Given the description of an element on the screen output the (x, y) to click on. 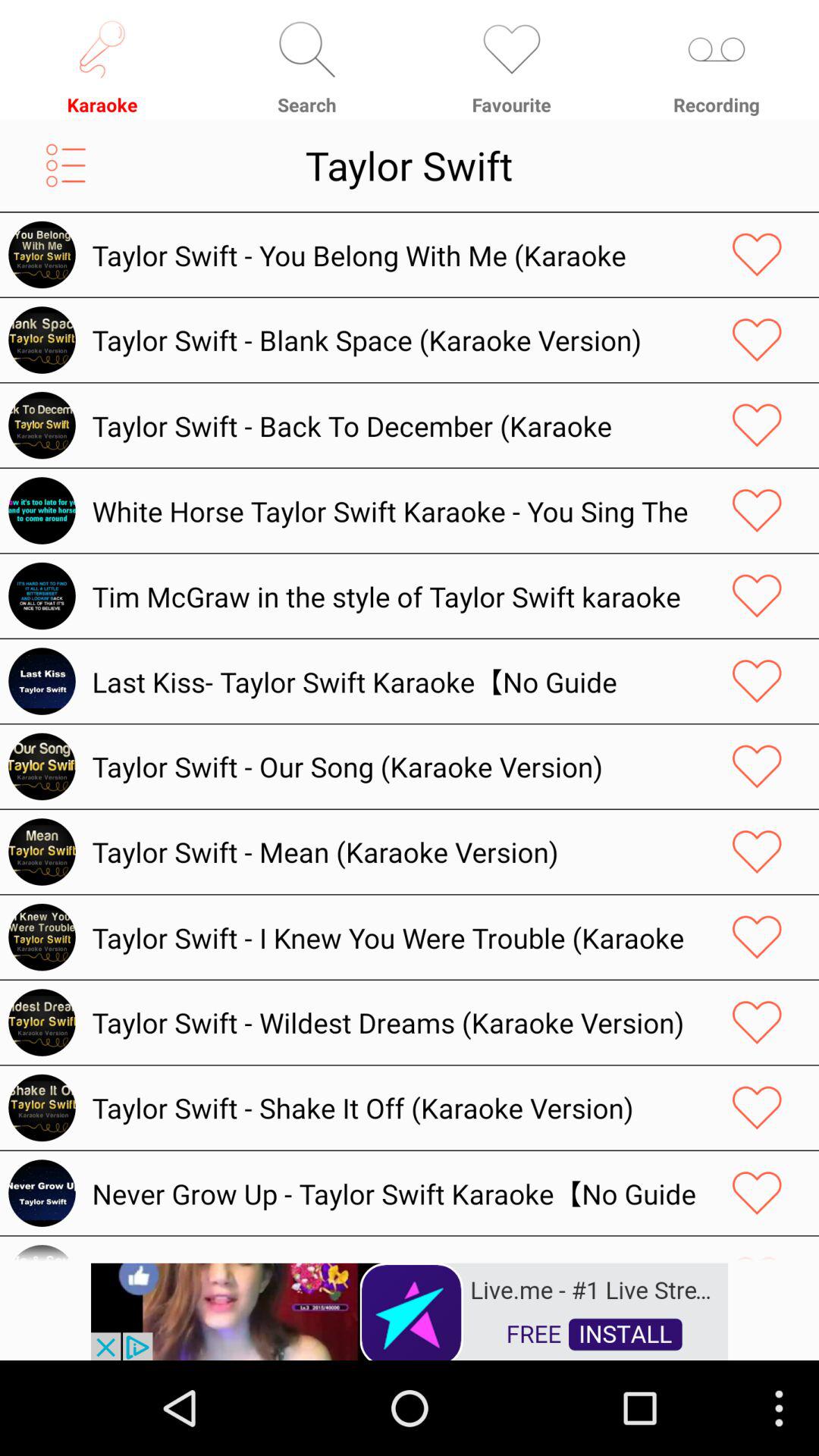
add favorite (756, 510)
